Given the description of an element on the screen output the (x, y) to click on. 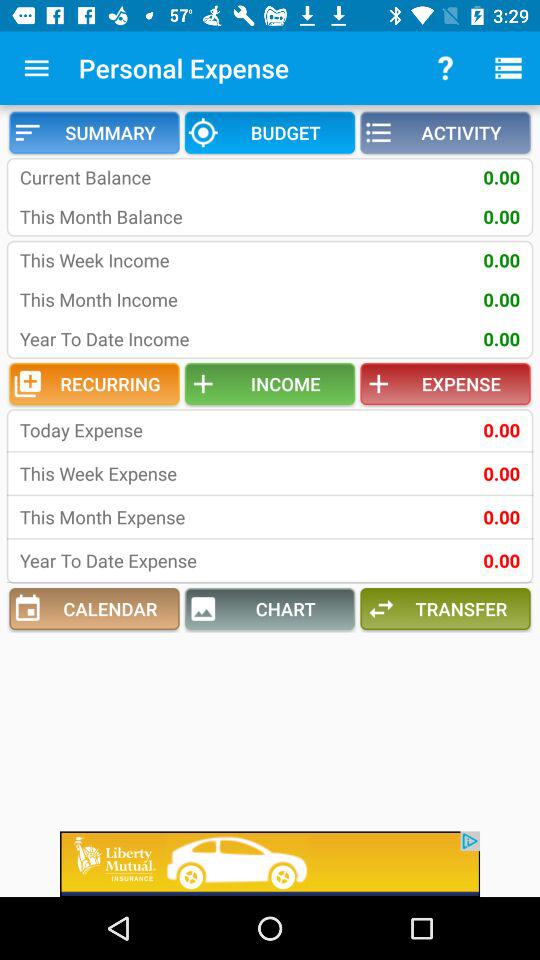
turn off icon to the left of the activity (269, 132)
